Given the description of an element on the screen output the (x, y) to click on. 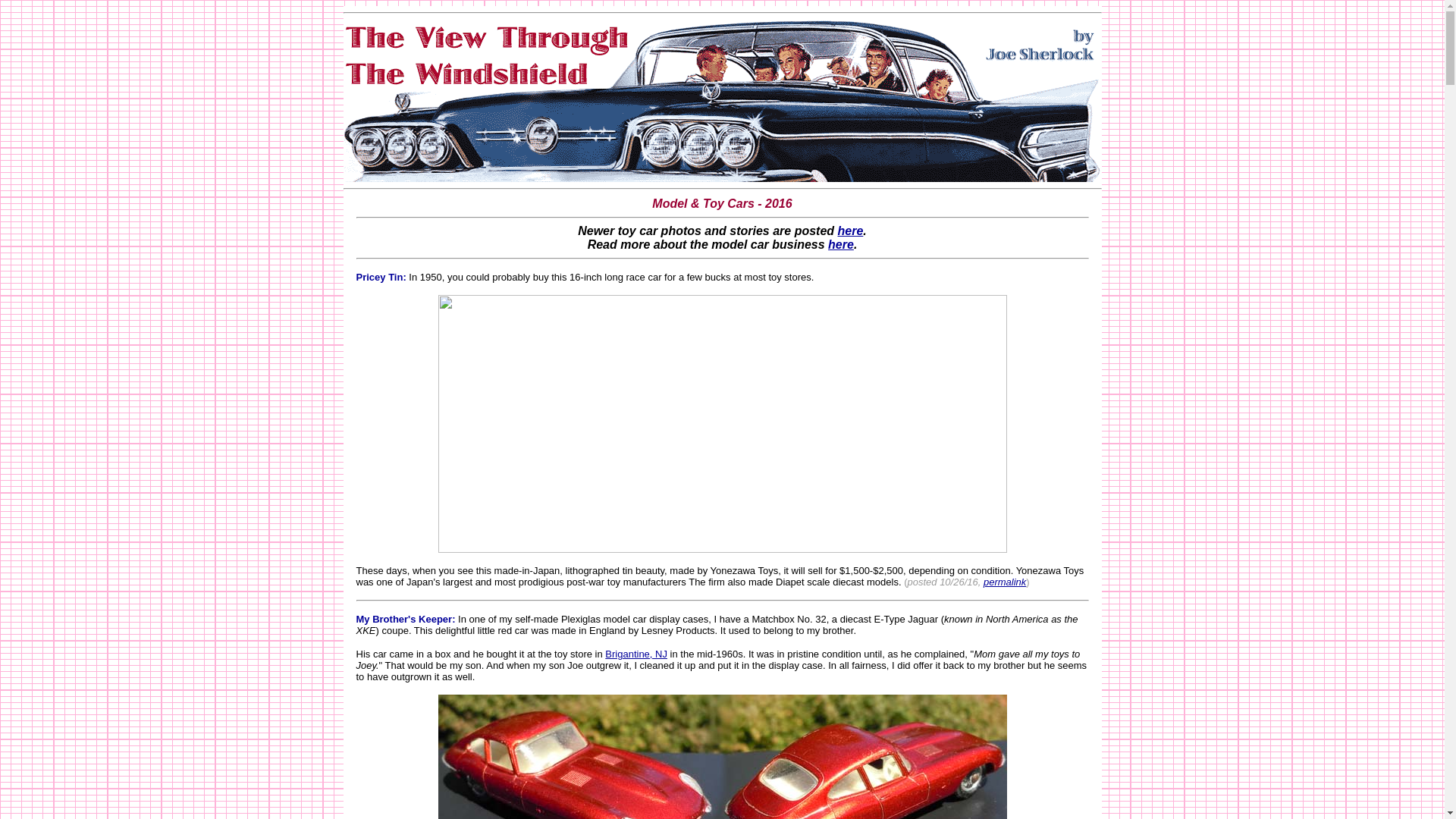
here (840, 244)
permalink (1005, 582)
Brigantine, NJ (635, 654)
here (850, 230)
